Given the description of an element on the screen output the (x, y) to click on. 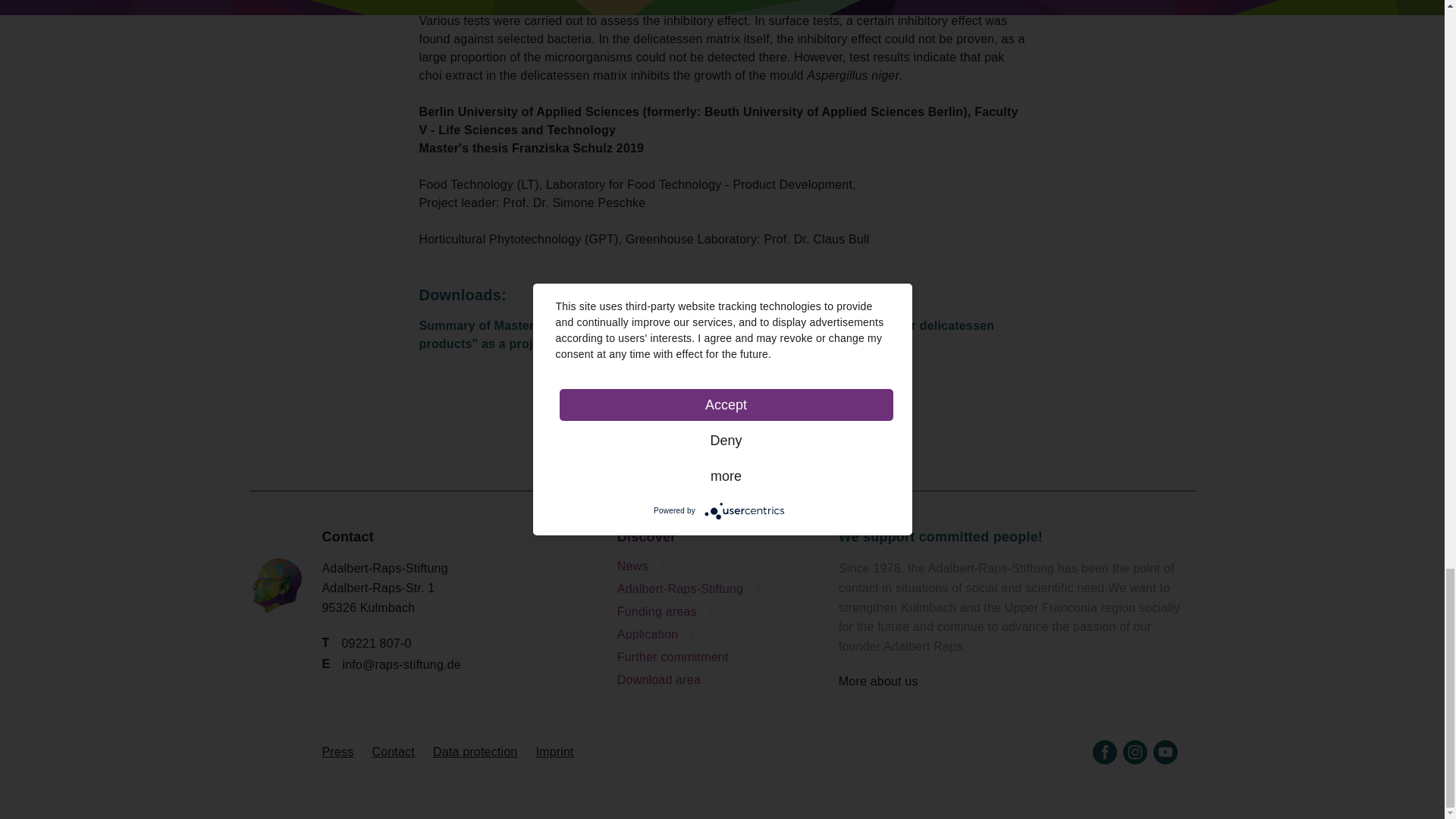
Download area (715, 679)
Adalbert-Raps-Stiftung (715, 589)
Funding areas (715, 611)
Application (715, 634)
More about us (1010, 681)
09221 807-0 (375, 643)
News (715, 566)
Further commitment (715, 657)
Press (337, 751)
Contact (392, 751)
Imprint (554, 751)
Data protection (475, 751)
